Given the description of an element on the screen output the (x, y) to click on. 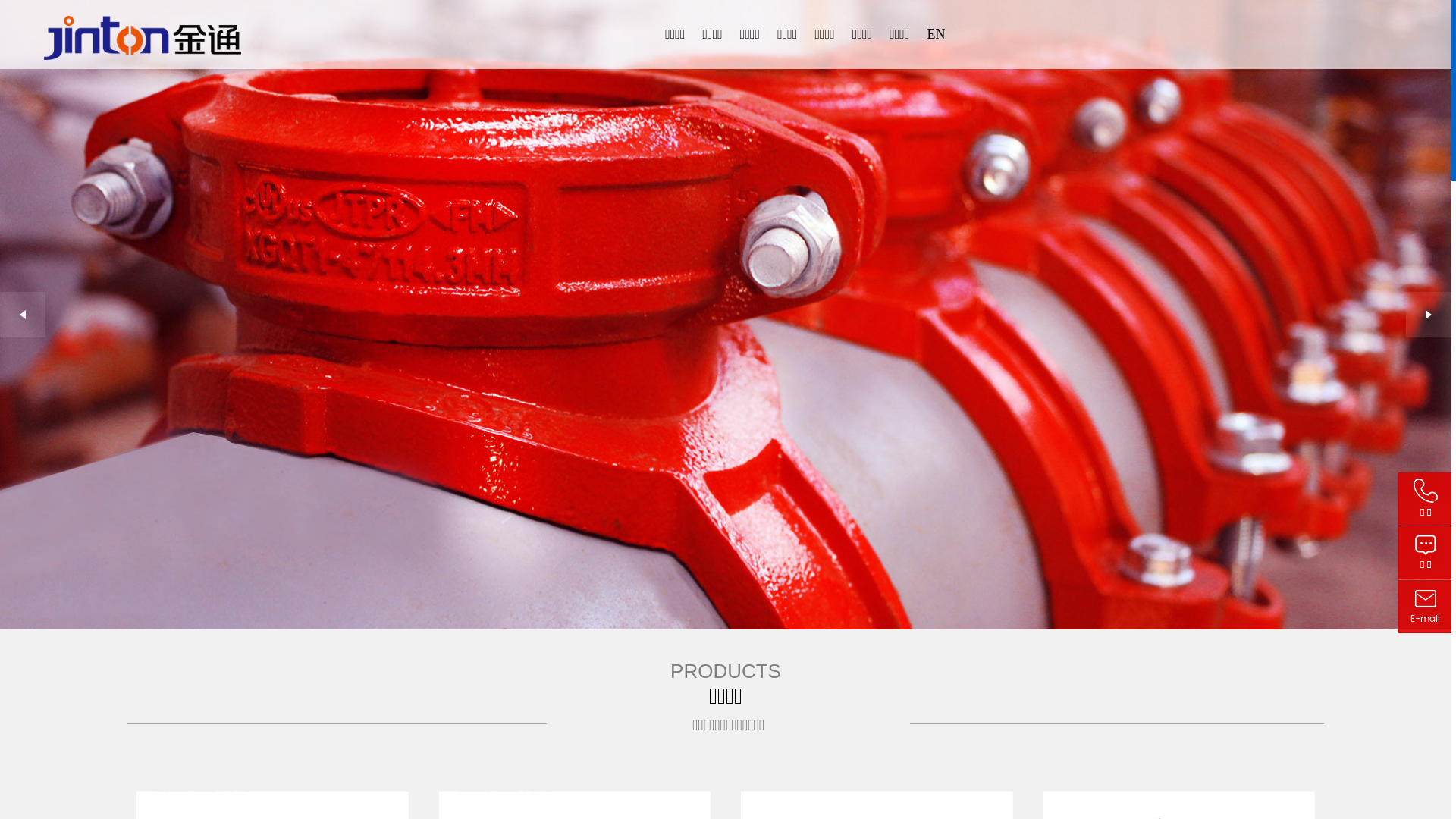
EN Element type: text (935, 34)
E-mail Element type: text (1425, 606)
